Given the description of an element on the screen output the (x, y) to click on. 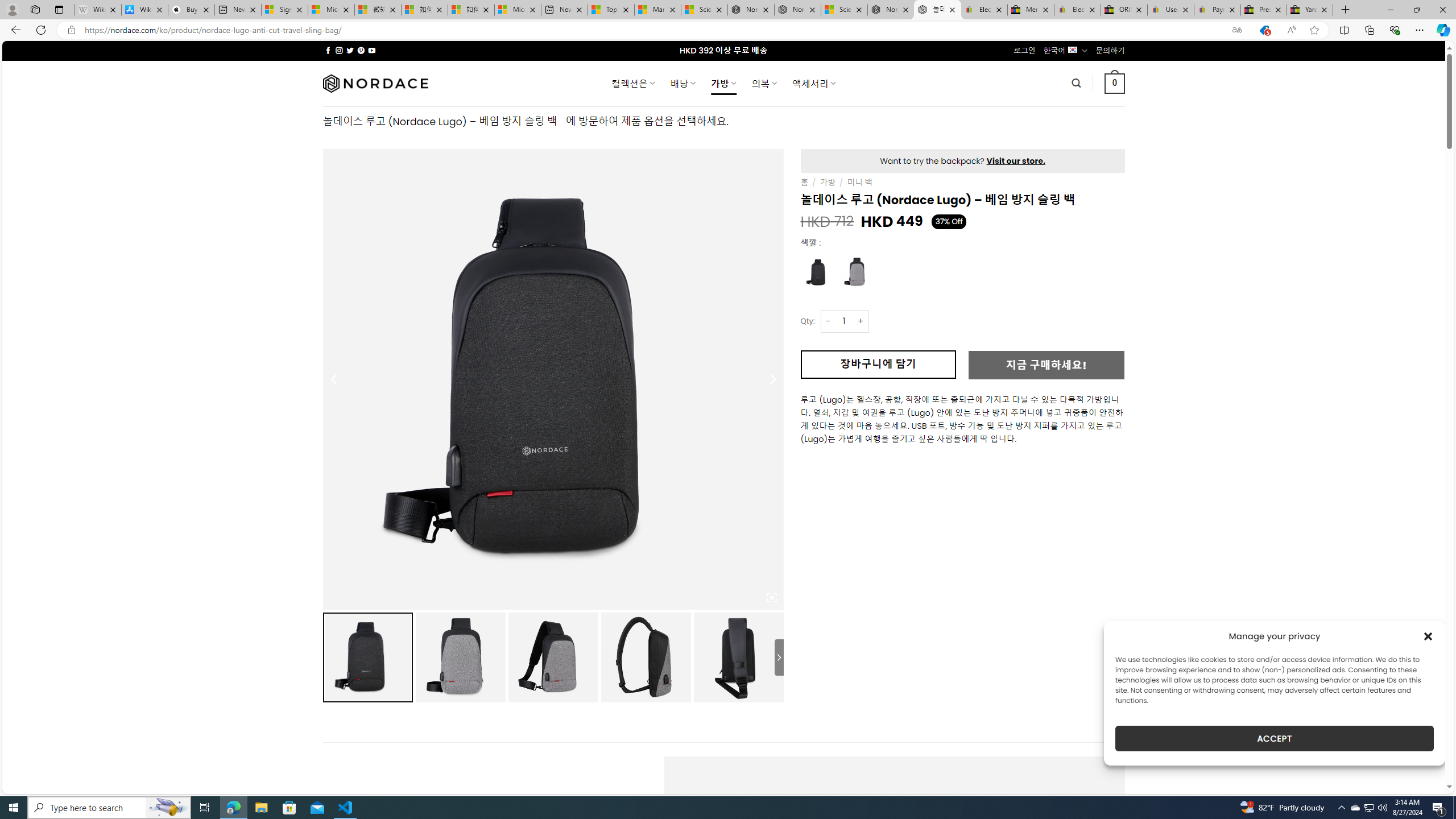
Microsoft Services Agreement (330, 9)
Marine life - MSN (656, 9)
Nordace (374, 83)
Yard, Garden & Outdoor Living (1309, 9)
